Given the description of an element on the screen output the (x, y) to click on. 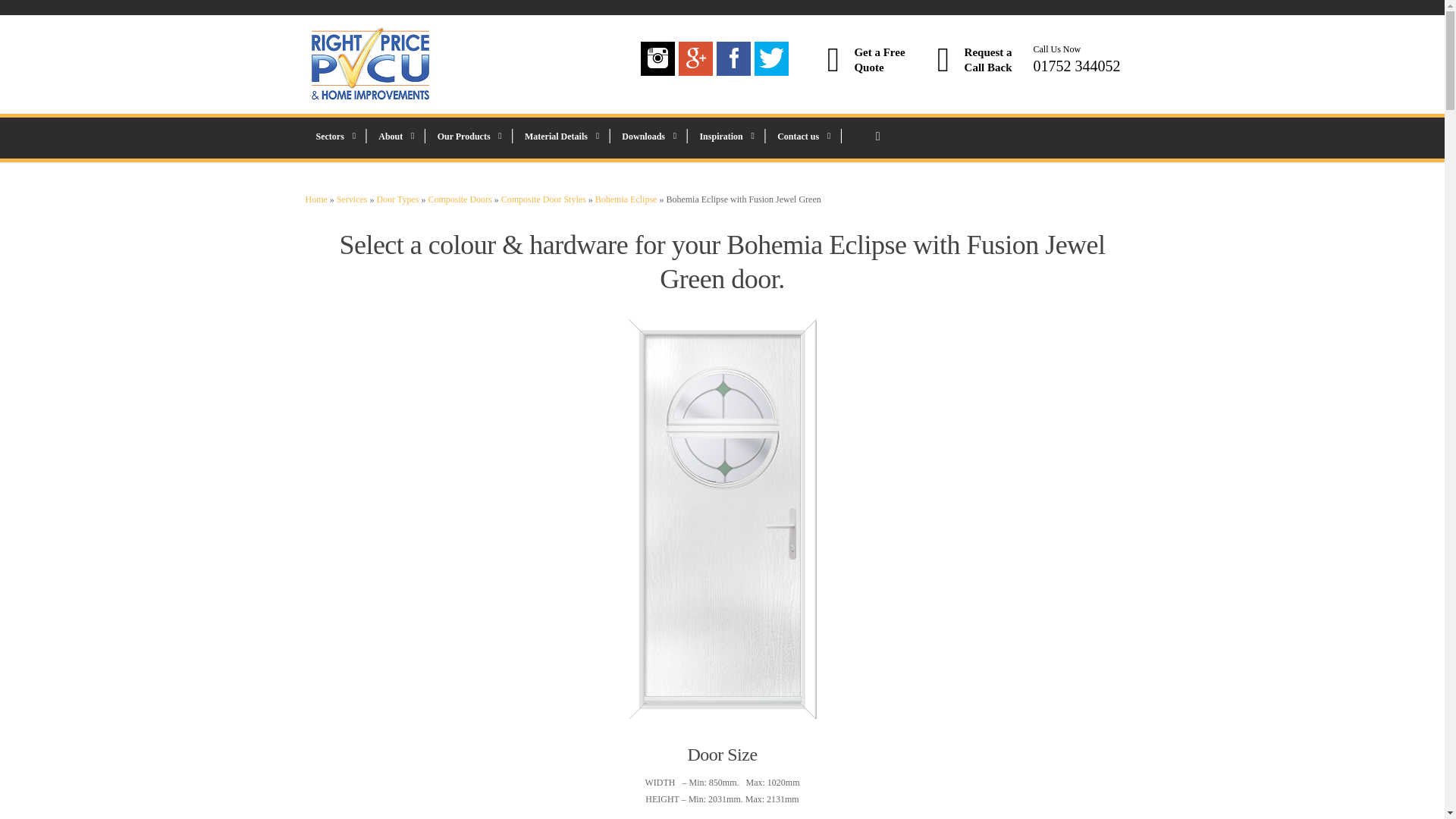
Sectors (334, 137)
About (395, 137)
Our Products (469, 137)
